Given the description of an element on the screen output the (x, y) to click on. 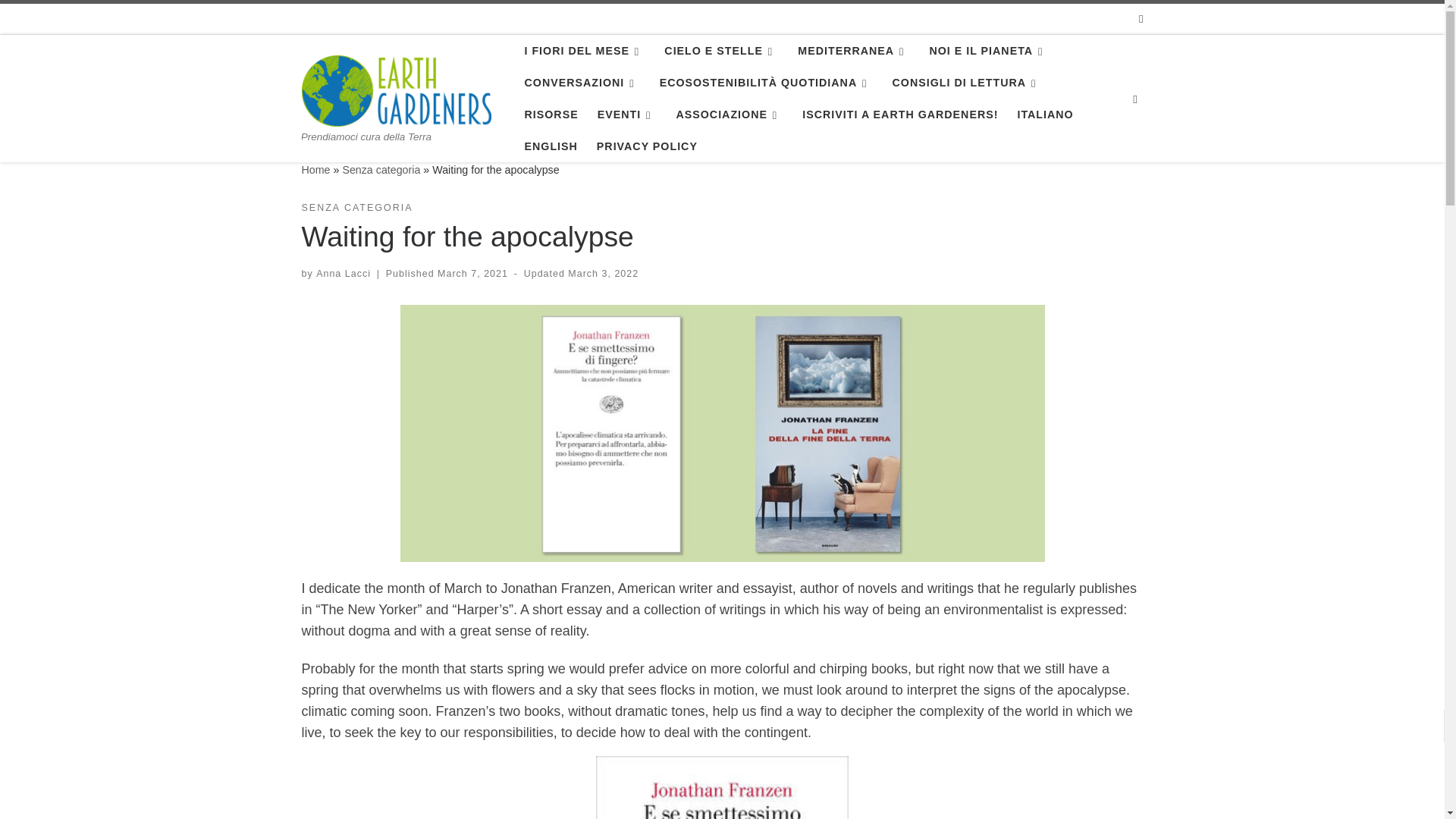
Skip to content (60, 20)
CIELO E STELLE (721, 50)
Senza categoria (381, 169)
View all posts by Anna Lacci (343, 273)
6:02 pm (603, 273)
MEDITERRANEA (854, 50)
View all posts in Senza categoria (357, 207)
I FIORI DEL MESE (584, 50)
6:02 pm (473, 273)
